Given the description of an element on the screen output the (x, y) to click on. 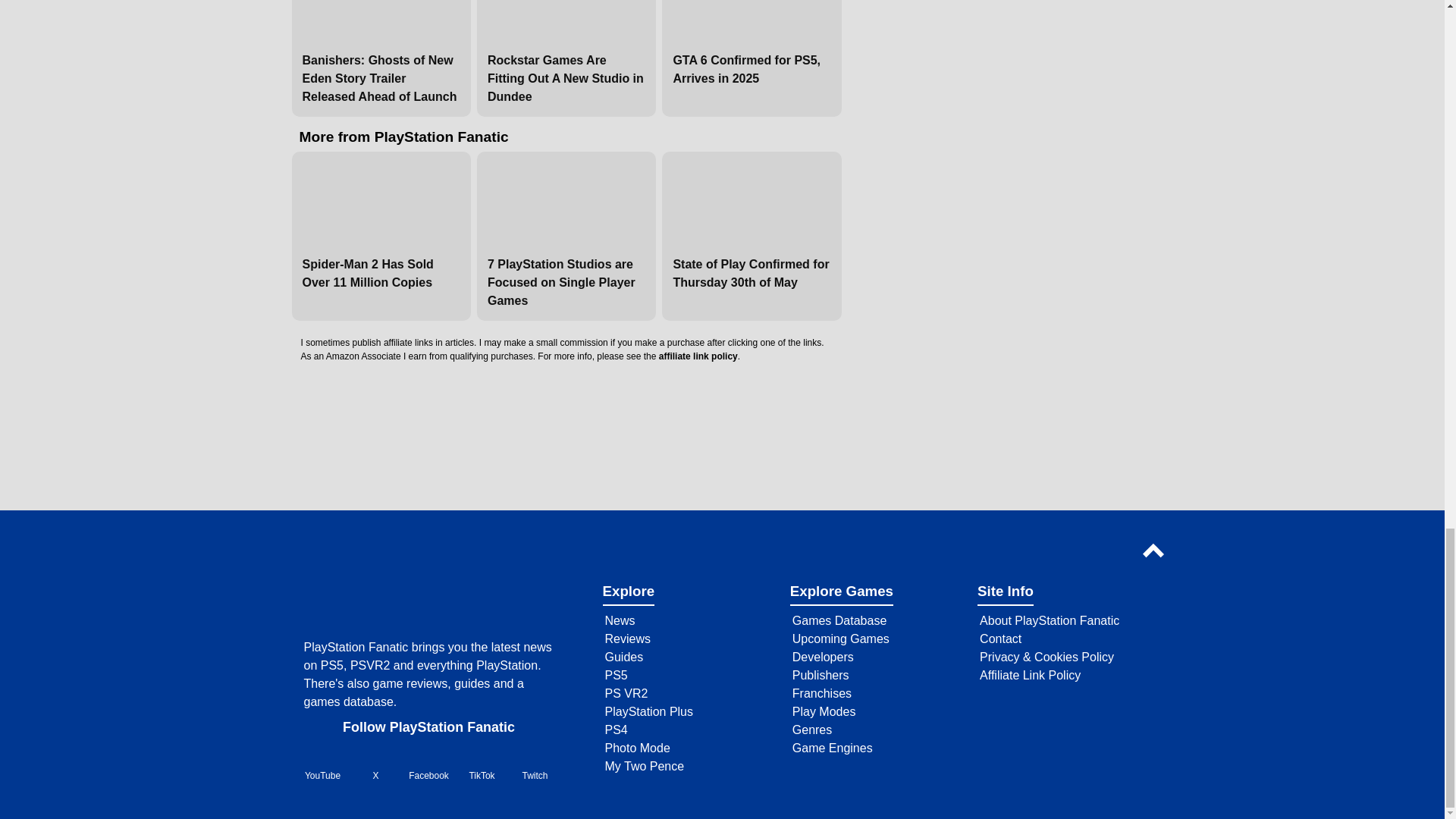
up (1156, 550)
Jump to the top of the page (1156, 551)
